Given the description of an element on the screen output the (x, y) to click on. 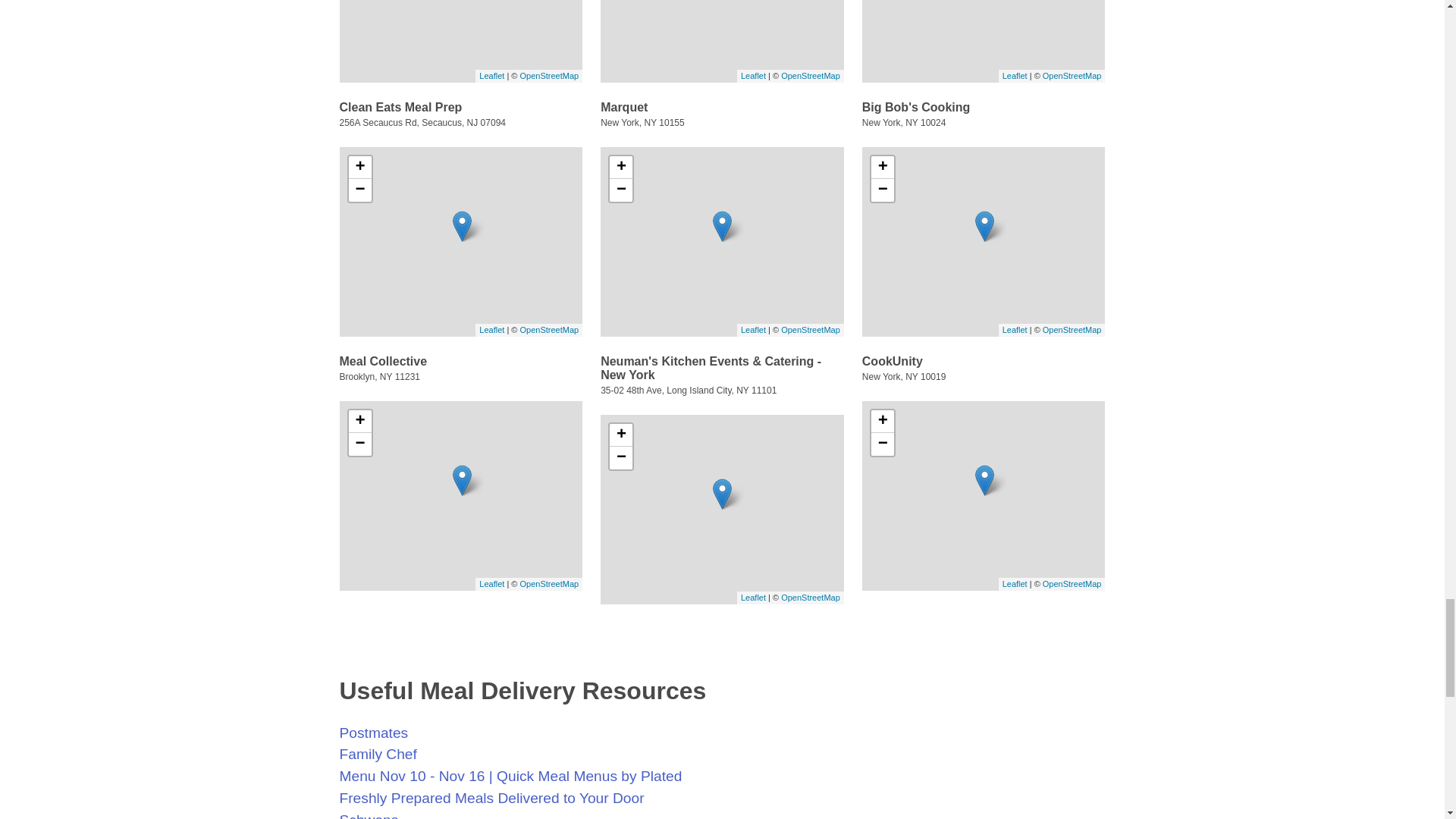
Leaflet (753, 75)
Leaflet (491, 329)
Zoom in (620, 167)
OpenStreetMap (549, 329)
A JS library for interactive maps (491, 75)
A JS library for interactive maps (1015, 329)
A JS library for interactive maps (753, 75)
Zoom in (881, 167)
Zoom in (360, 421)
OpenStreetMap (810, 75)
